Given the description of an element on the screen output the (x, y) to click on. 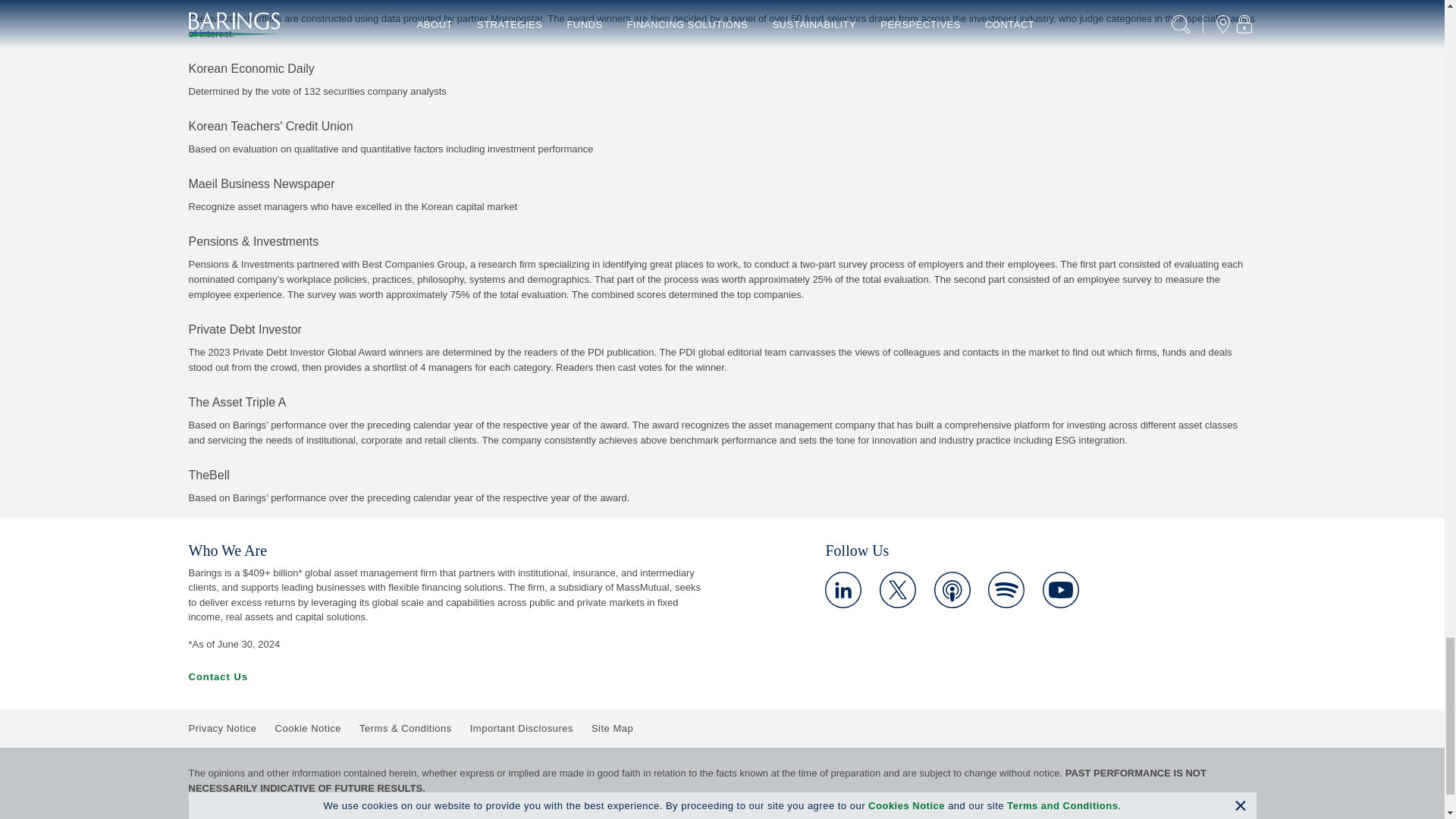
Privacy Notice (221, 727)
Learn More (1060, 589)
Site Map (612, 727)
Twitter (897, 589)
Cookie Notice (307, 727)
